Given the description of an element on the screen output the (x, y) to click on. 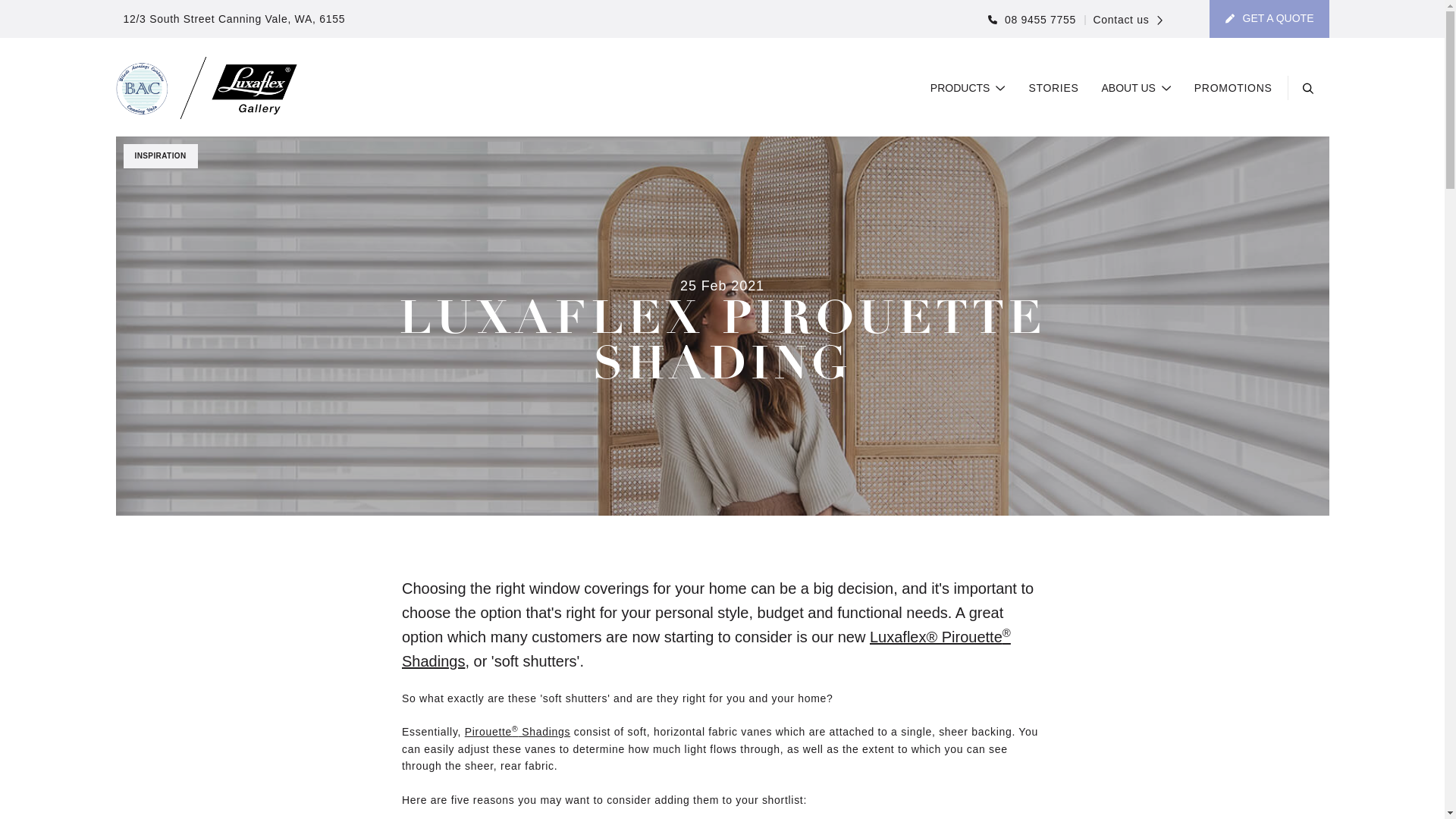
PROMOTIONS Element type: text (1233, 88)
Contact us Element type: text (1123, 20)
GET A QUOTE Element type: text (1269, 18)
STORIES Element type: text (1053, 88)
ABOUT US Element type: text (1136, 88)
08 9455 7755 Element type: text (1032, 20)
PRODUCTS Element type: text (968, 88)
